Given the description of an element on the screen output the (x, y) to click on. 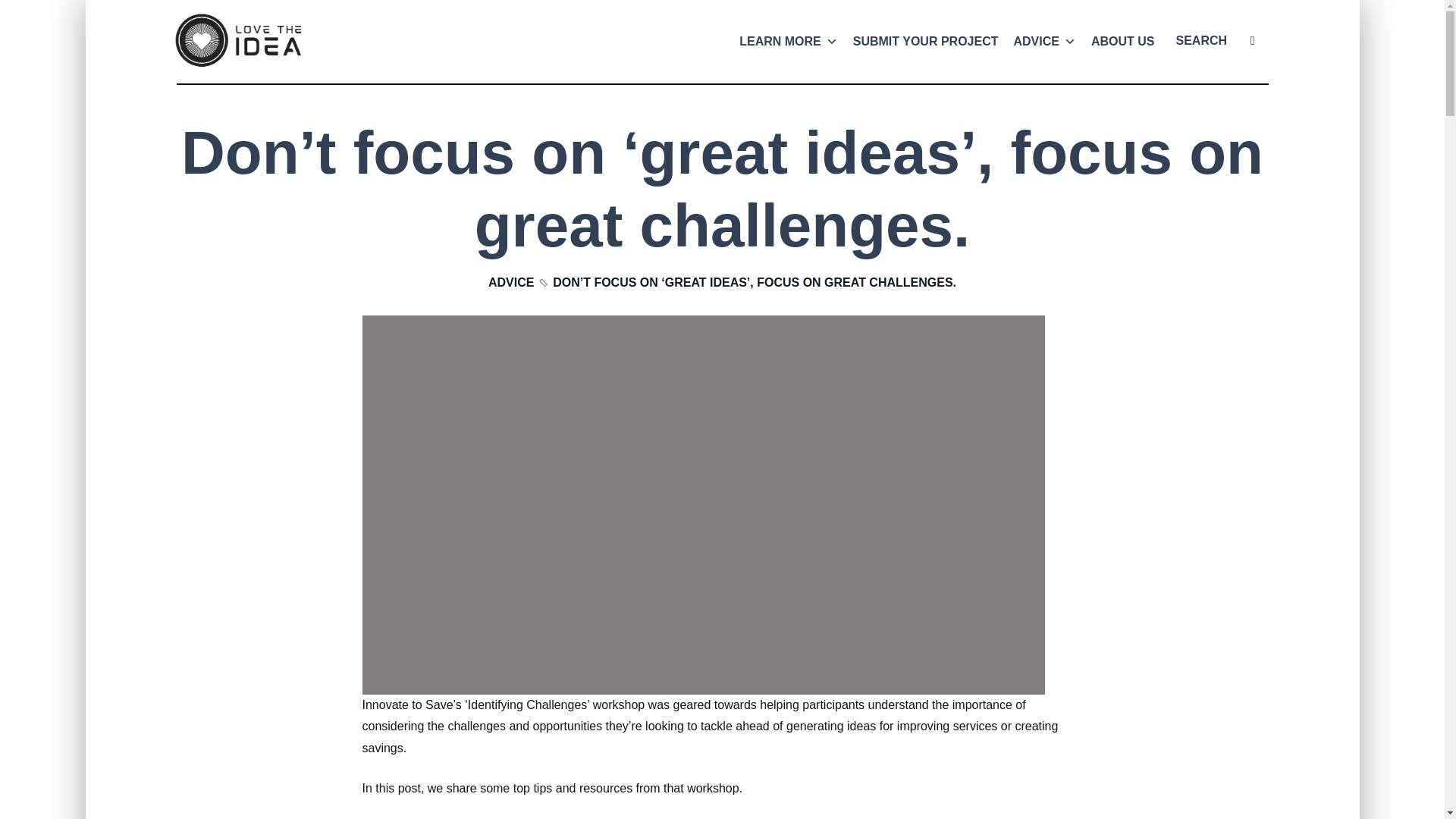
LEARN MORE (788, 41)
ADVICE (1044, 41)
ADVICE (510, 282)
SUBMIT YOUR PROJECT (925, 41)
ABOUT US (1122, 41)
